Given the description of an element on the screen output the (x, y) to click on. 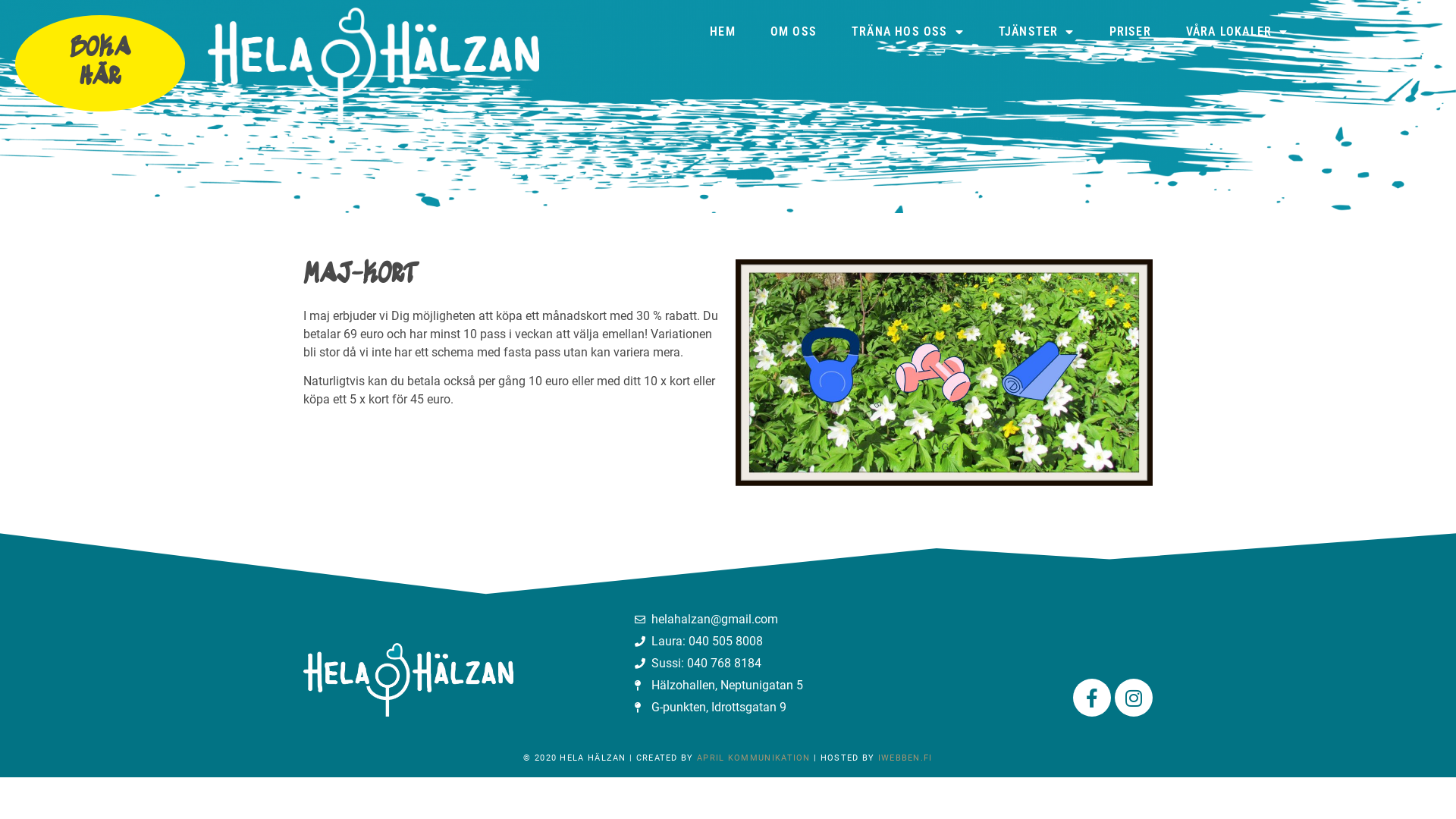
G-punkten, Idrottsgatan 9 Element type: text (749, 707)
APRIL KOMMUNIKATION Element type: text (753, 757)
OM OSS Element type: text (793, 31)
Laura: 040 505 8008 Element type: text (749, 641)
IWEBBEN.FI Element type: text (905, 757)
HEM Element type: text (722, 31)
PRISER Element type: text (1130, 31)
helahalzan@gmail.com Element type: text (749, 619)
Sussi: 040 768 8184 Element type: text (749, 663)
